Given the description of an element on the screen output the (x, y) to click on. 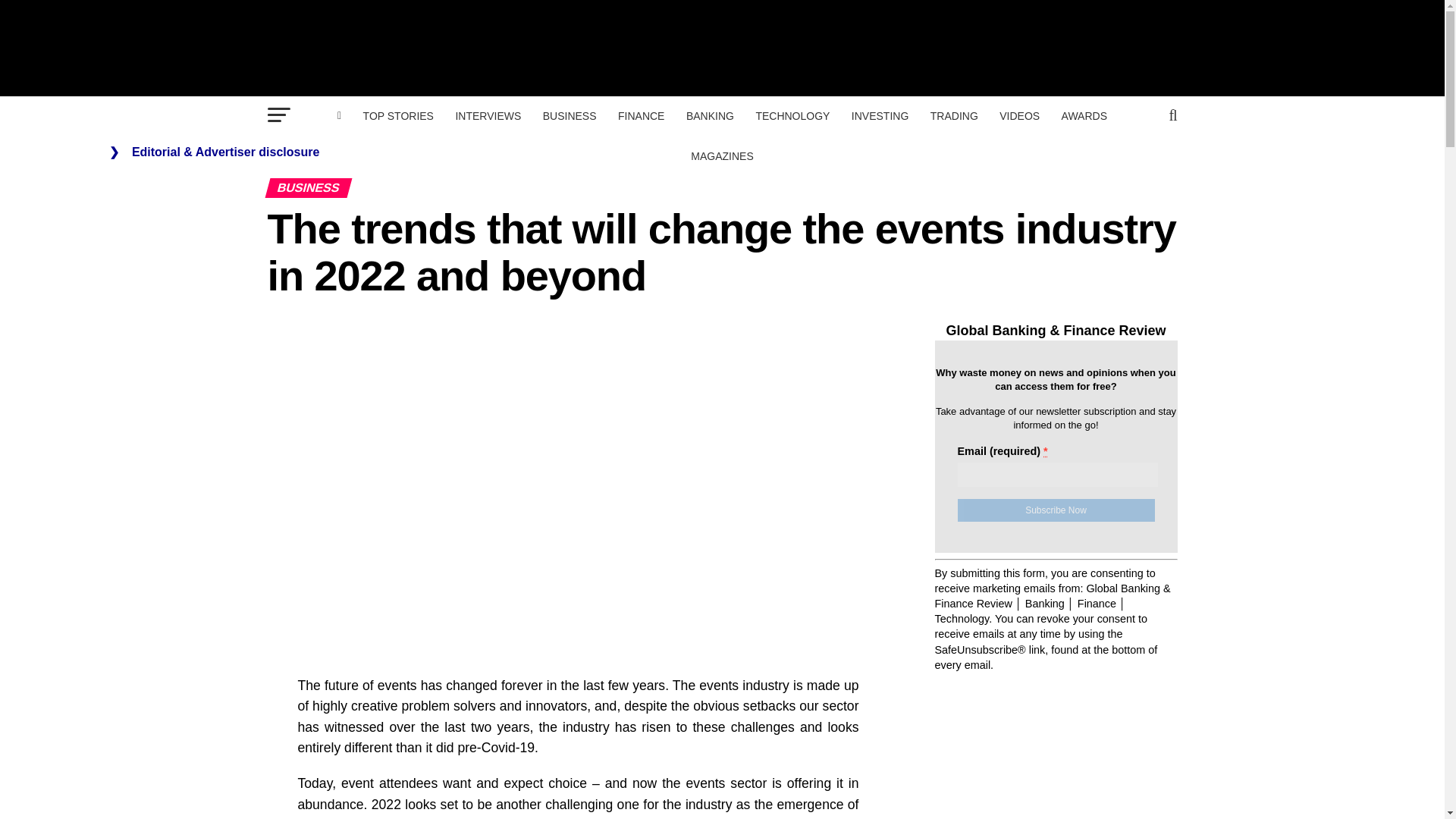
AWARDS (1084, 116)
Subscribe Now (1055, 509)
FINANCE (640, 116)
BANKING (709, 116)
Banking (709, 116)
MAGAZINES (721, 156)
Finance (640, 116)
INVESTING (880, 116)
VIDEOS (1019, 116)
TECHNOLOGY (791, 116)
Top Stories (397, 116)
Business (569, 116)
TOP STORIES (397, 116)
BUSINESS (569, 116)
INTERVIEWS (487, 116)
